Given the description of an element on the screen output the (x, y) to click on. 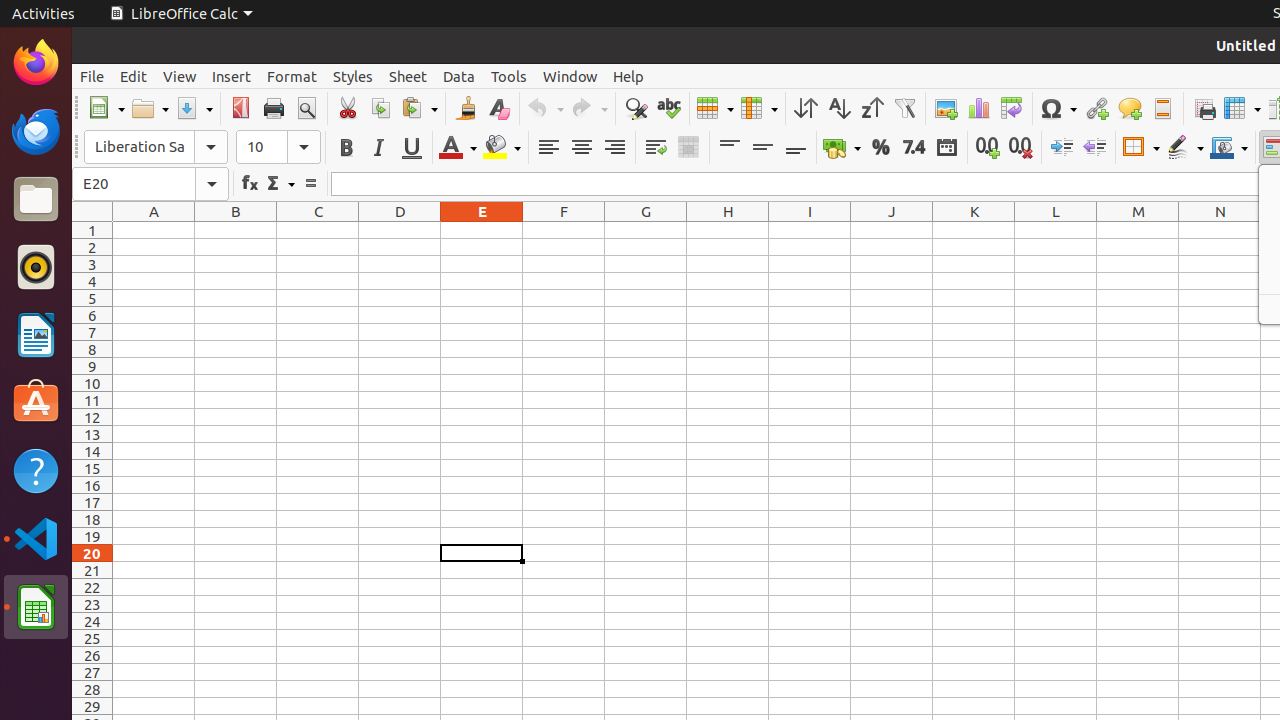
LibreOffice Writer Element type: push-button (36, 334)
LibreOffice Calc Element type: menu (181, 13)
Rhythmbox Element type: push-button (36, 267)
Ubuntu Software Element type: push-button (36, 402)
